Given the description of an element on the screen output the (x, y) to click on. 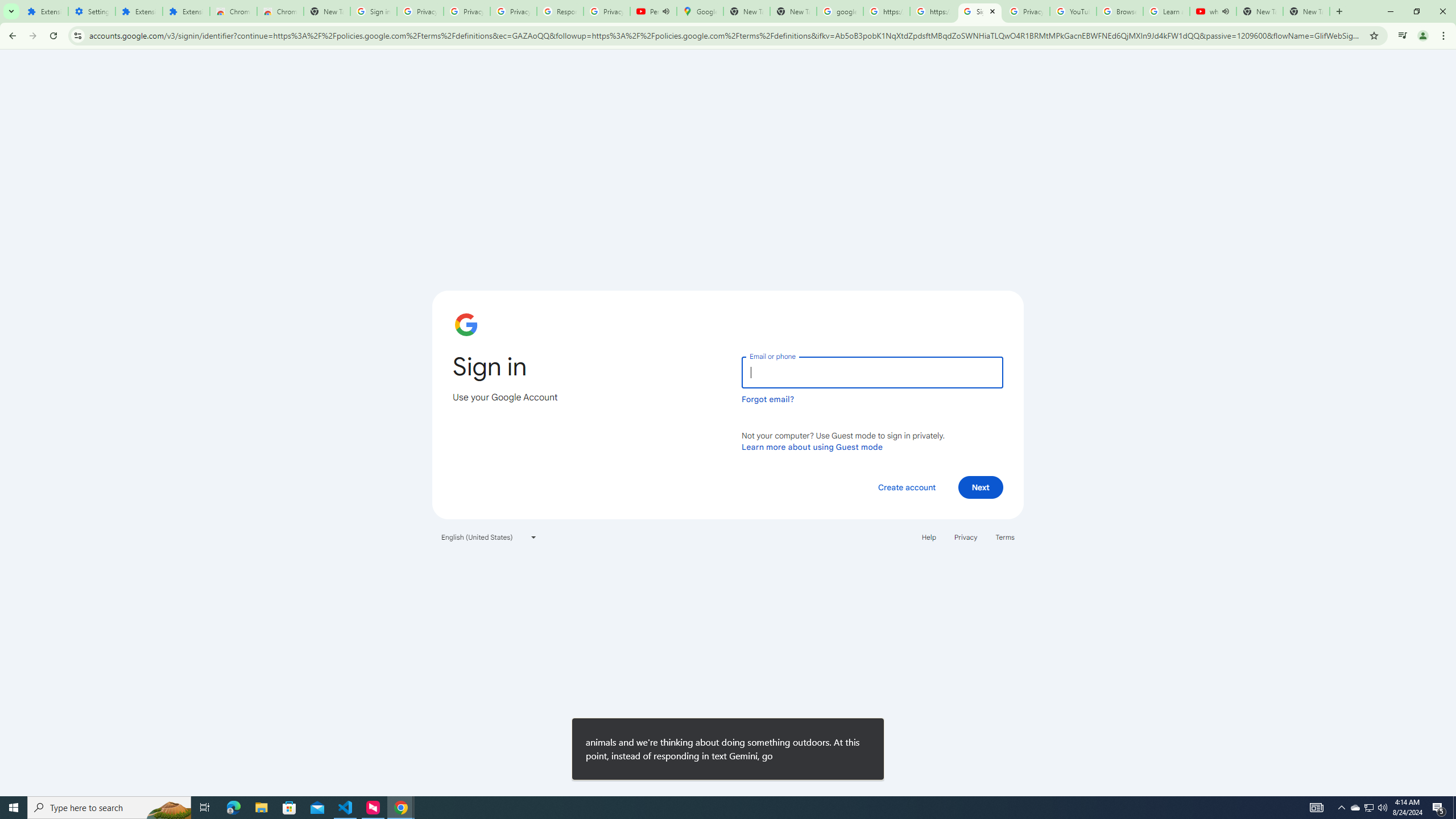
English (United States) (489, 536)
Extensions (186, 11)
New Tab (326, 11)
Chrome Web Store - Themes (279, 11)
Forgot email? (767, 398)
